Given the description of an element on the screen output the (x, y) to click on. 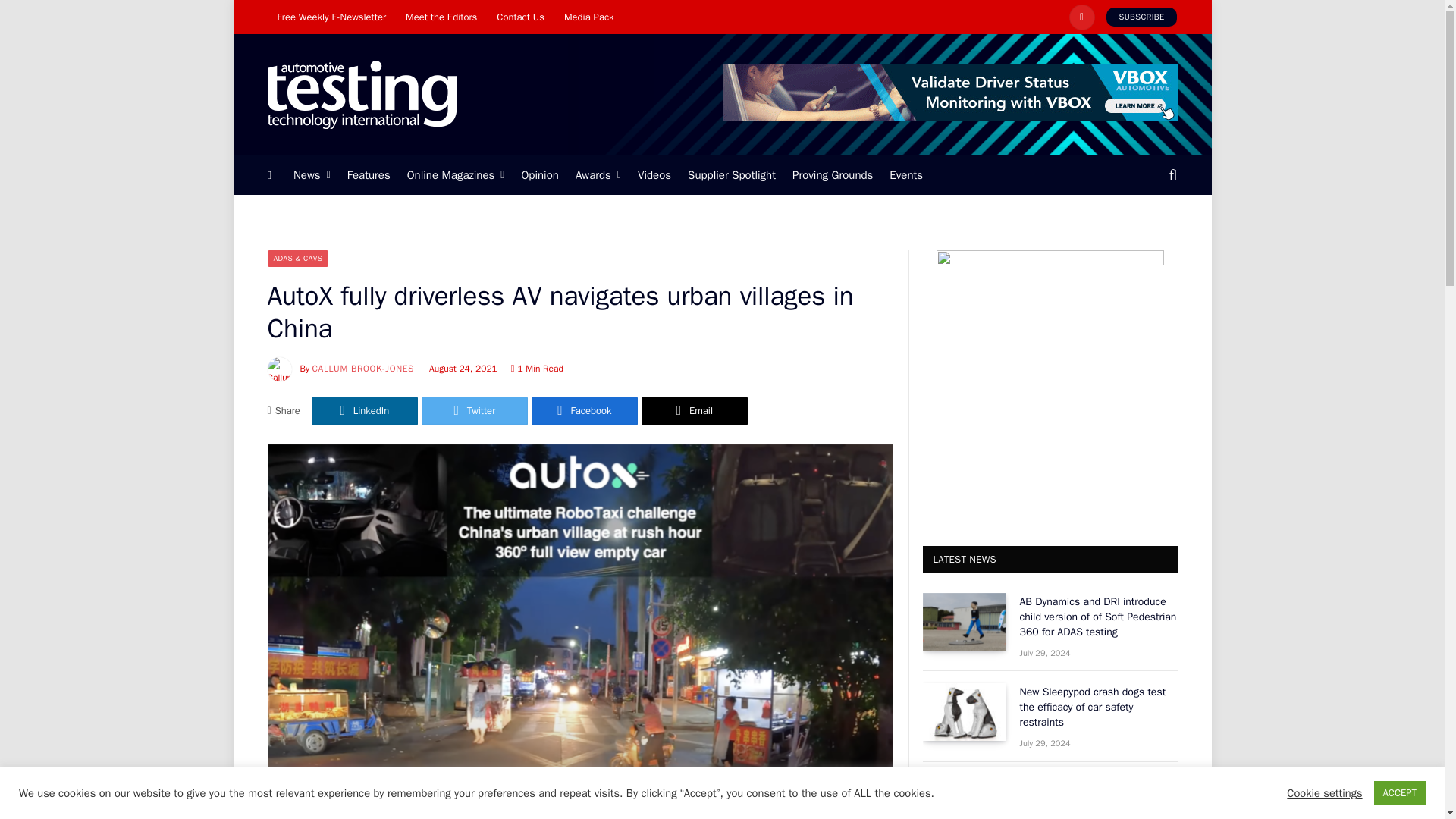
Share via Email (695, 410)
Posts by Callum Brook-Jones (363, 368)
Share on Facebook (584, 410)
Automotive Testing Technology International (361, 94)
Share on LinkedIn (364, 410)
